Given the description of an element on the screen output the (x, y) to click on. 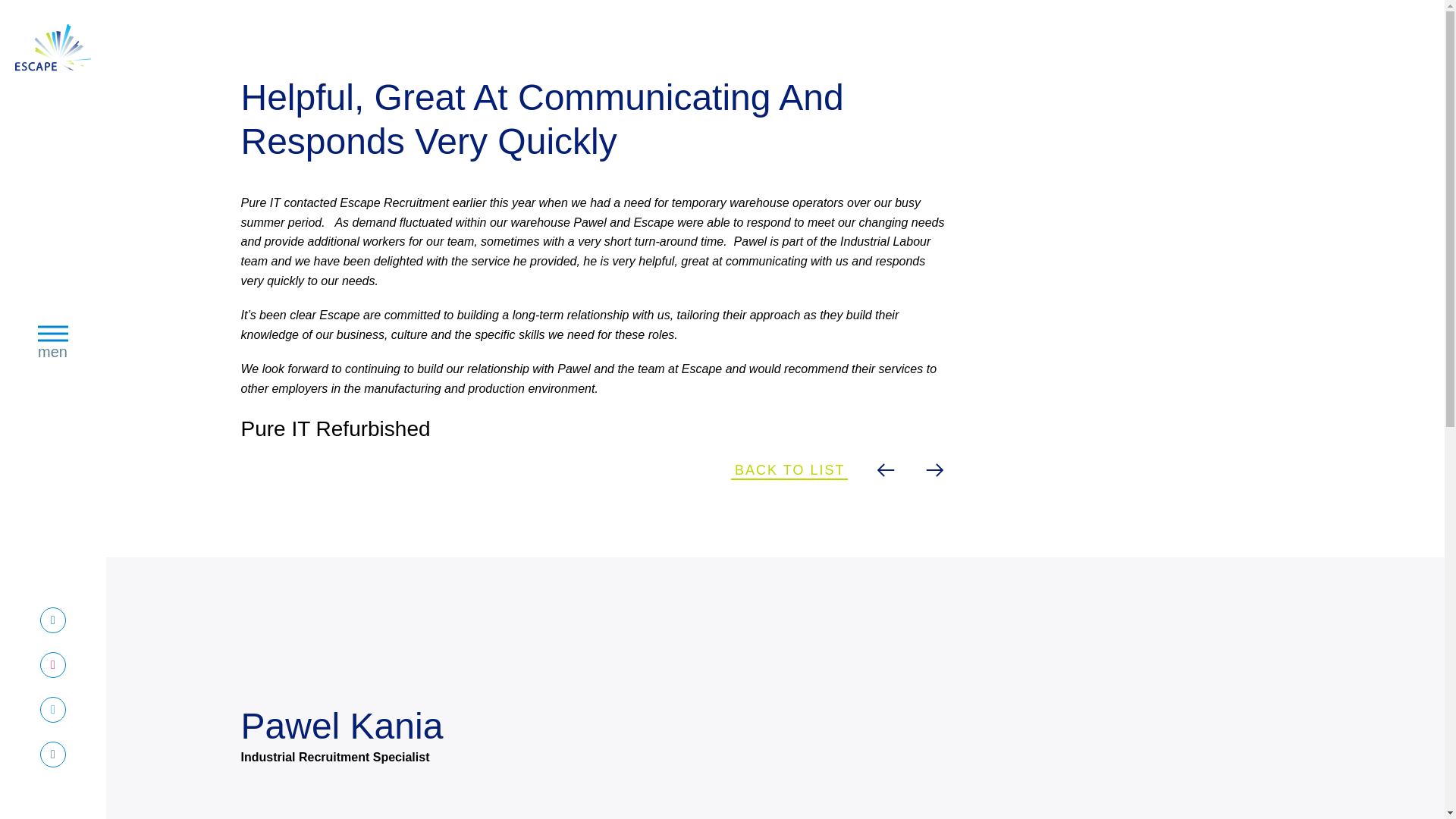
LinkedIn (52, 620)
Back to Testimonials List (788, 469)
Facebook (52, 754)
Instagram (52, 342)
Twitter (52, 664)
Escape Recruitment Services (52, 709)
BACK TO LIST (52, 50)
